Given the description of an element on the screen output the (x, y) to click on. 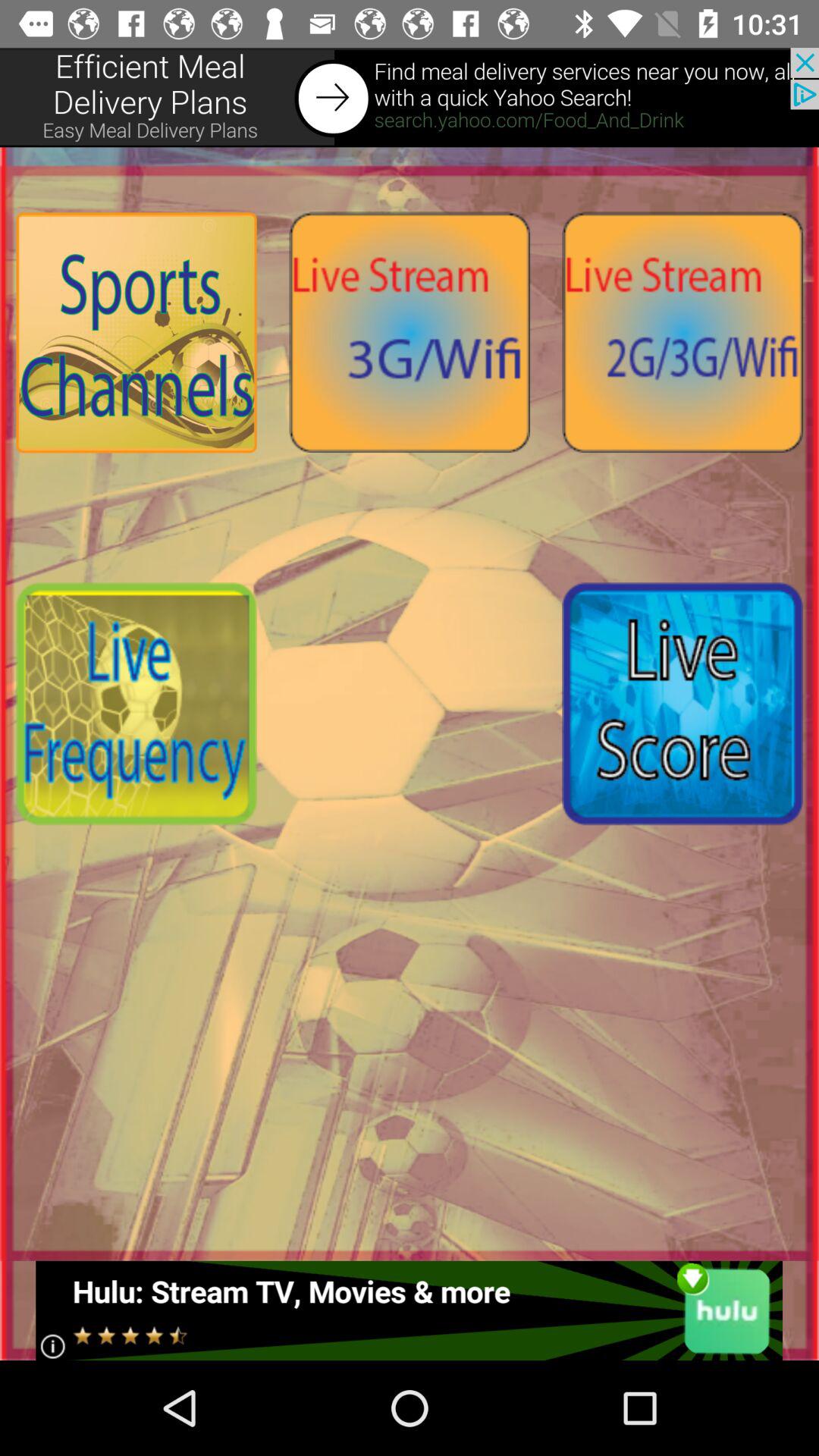
search sports channels (136, 332)
